Given the description of an element on the screen output the (x, y) to click on. 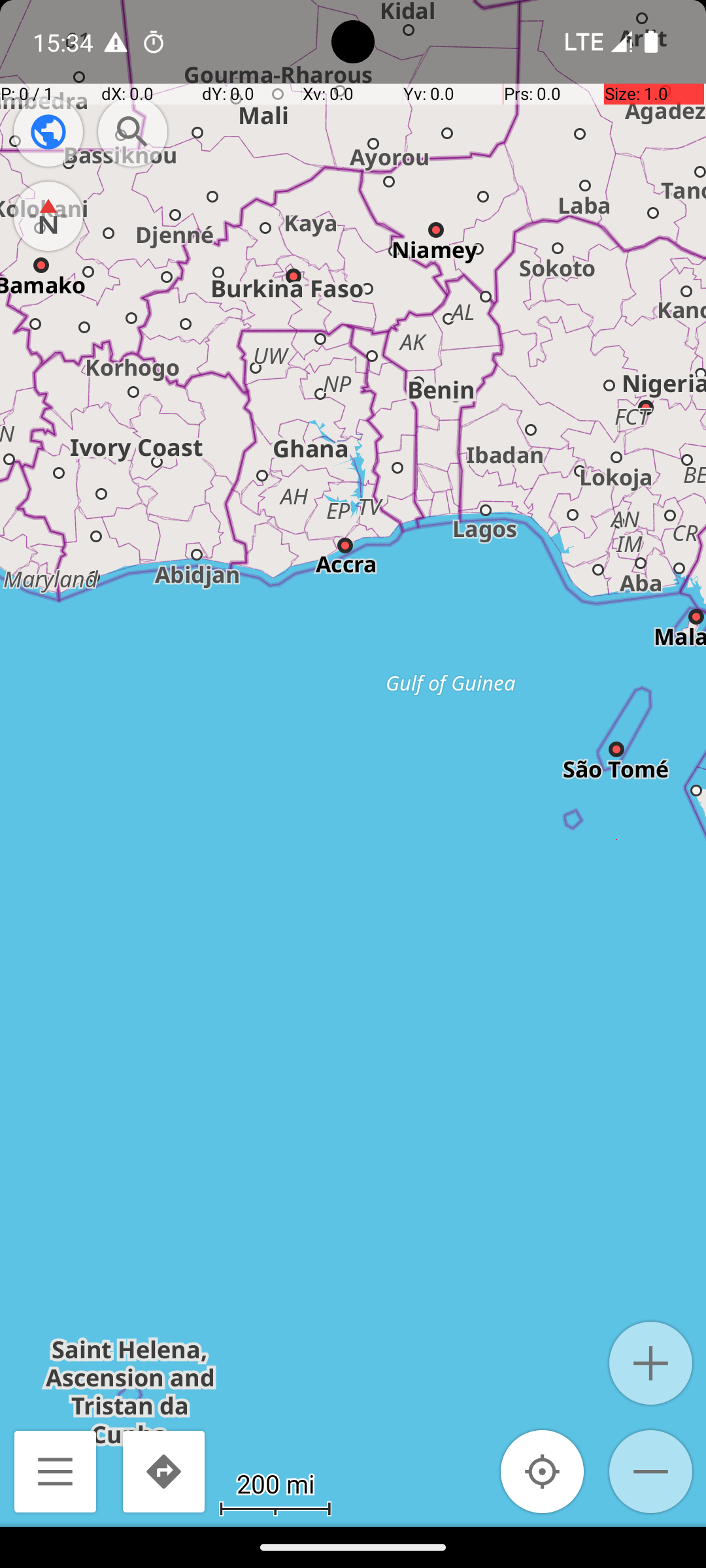
North is up Element type: android.widget.ImageButton (48, 216)
